Given the description of an element on the screen output the (x, y) to click on. 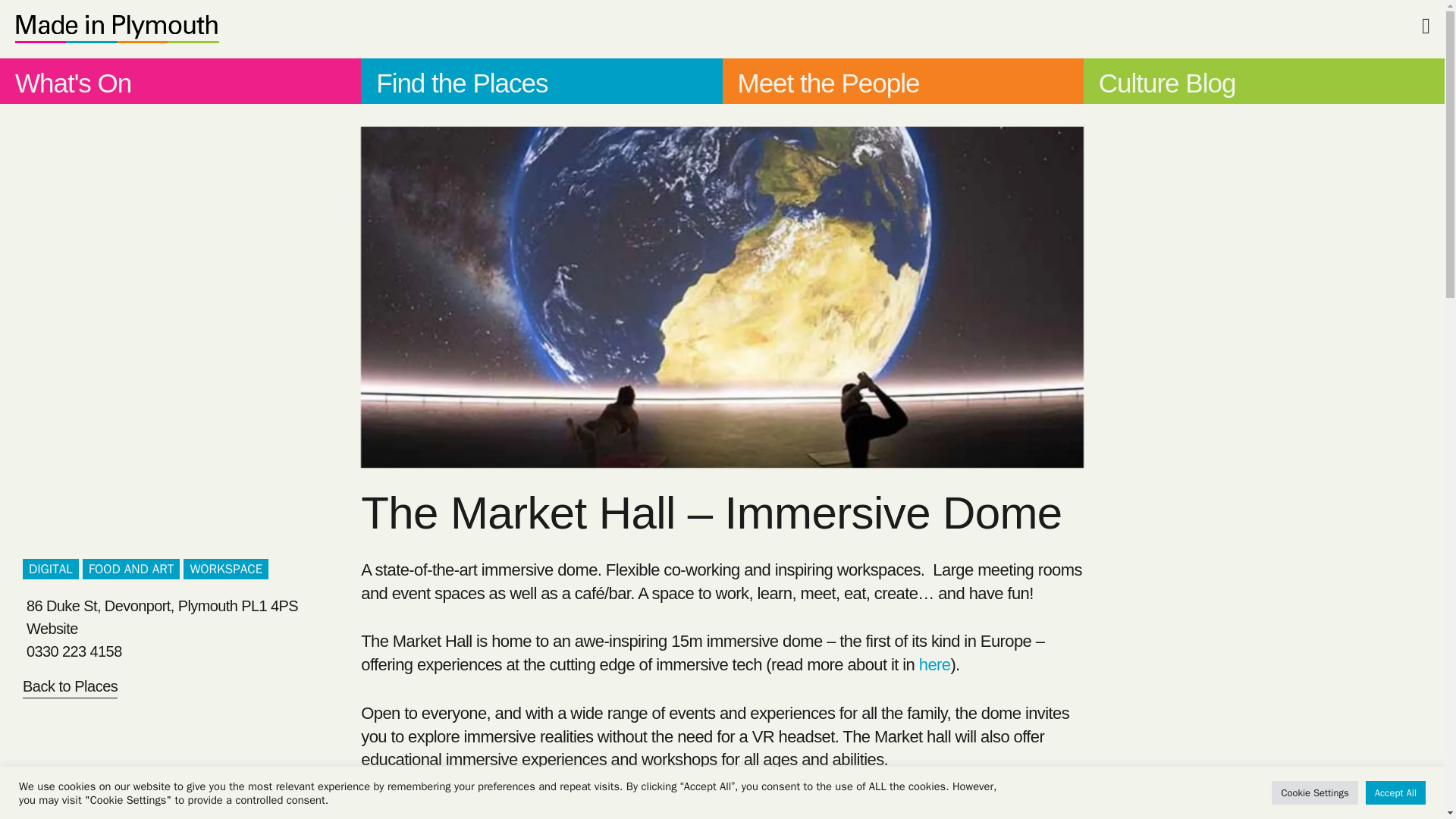
Website (193, 628)
Cookie Settings (1313, 792)
Back to Places (70, 688)
DIGITAL (50, 568)
WORKSPACE (225, 568)
FOOD AND ART (130, 568)
here (934, 664)
